Given the description of an element on the screen output the (x, y) to click on. 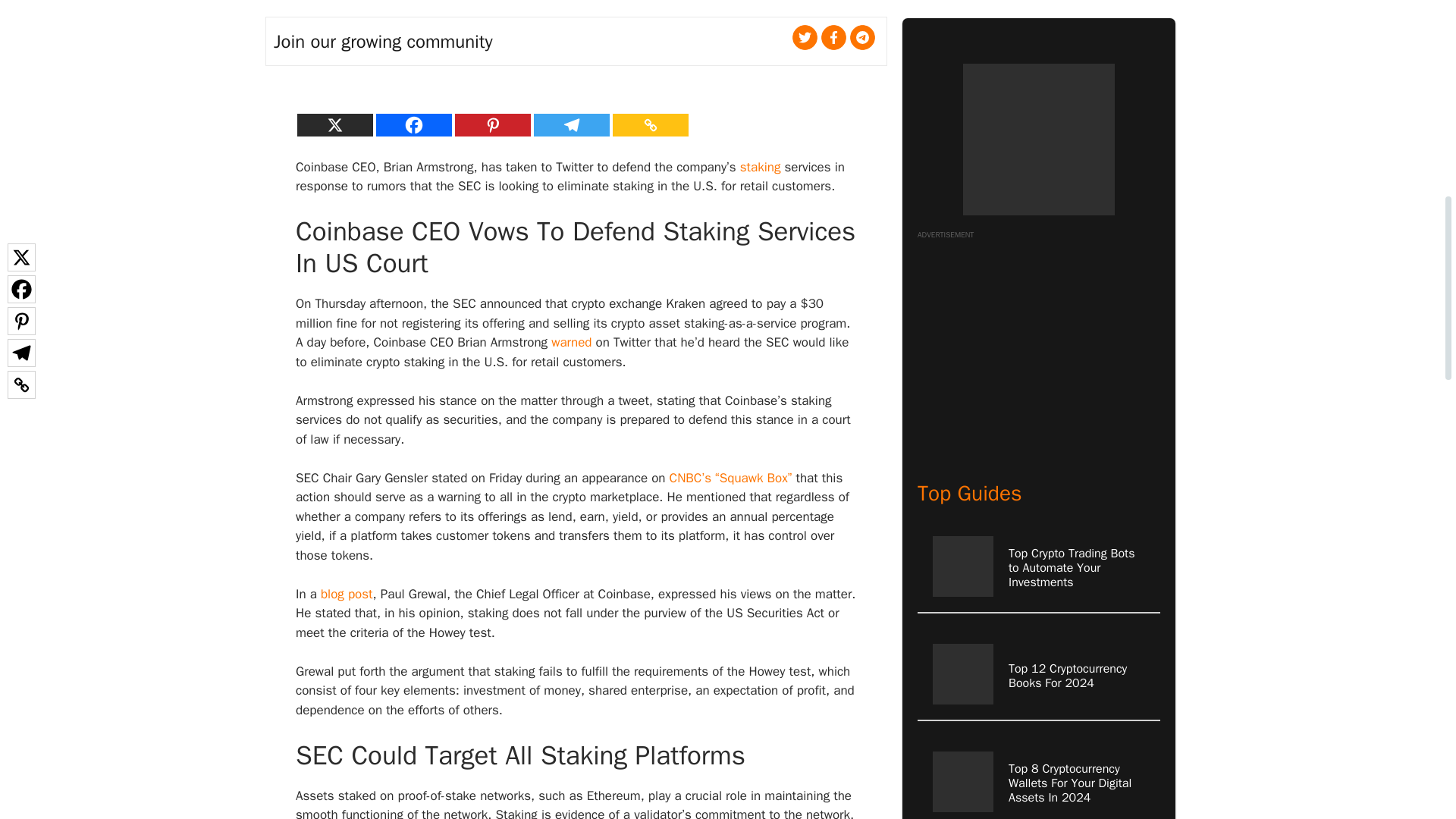
Telegram (572, 124)
Facebook (413, 124)
Copy Link (650, 124)
Pinterest (492, 124)
X (334, 124)
